Given the description of an element on the screen output the (x, y) to click on. 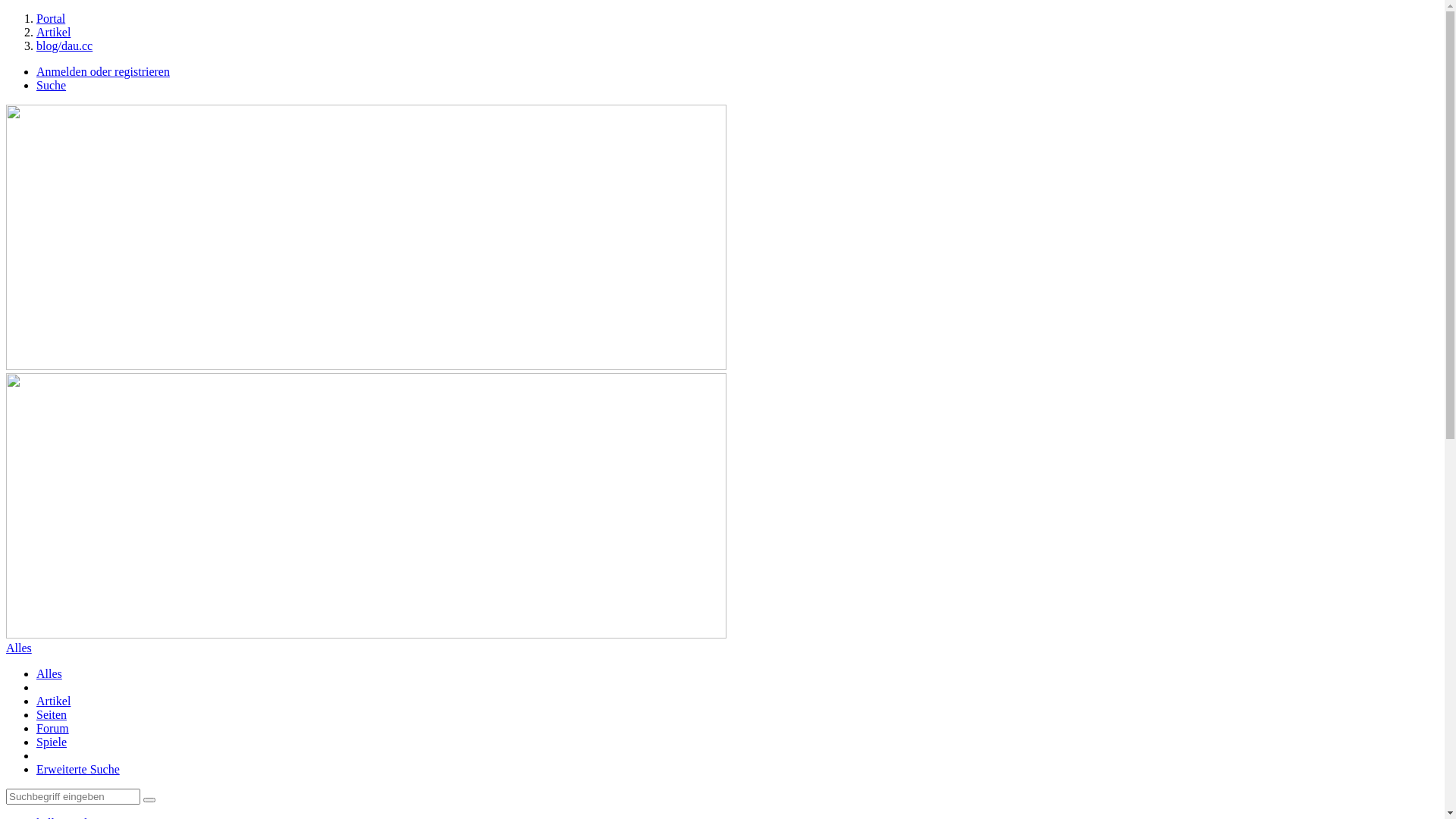
Anmelden oder registrieren Element type: text (102, 71)
Portal Element type: text (50, 18)
Artikel Element type: text (53, 700)
Artikel Element type: text (53, 31)
Seiten Element type: text (51, 714)
Spiele Element type: text (51, 741)
Erweiterte Suche Element type: text (77, 768)
Forum Element type: text (52, 727)
blog/dau.cc Element type: text (64, 45)
Alles Element type: text (49, 673)
Alles Element type: text (18, 647)
Suche Element type: text (50, 84)
